Given the description of an element on the screen output the (x, y) to click on. 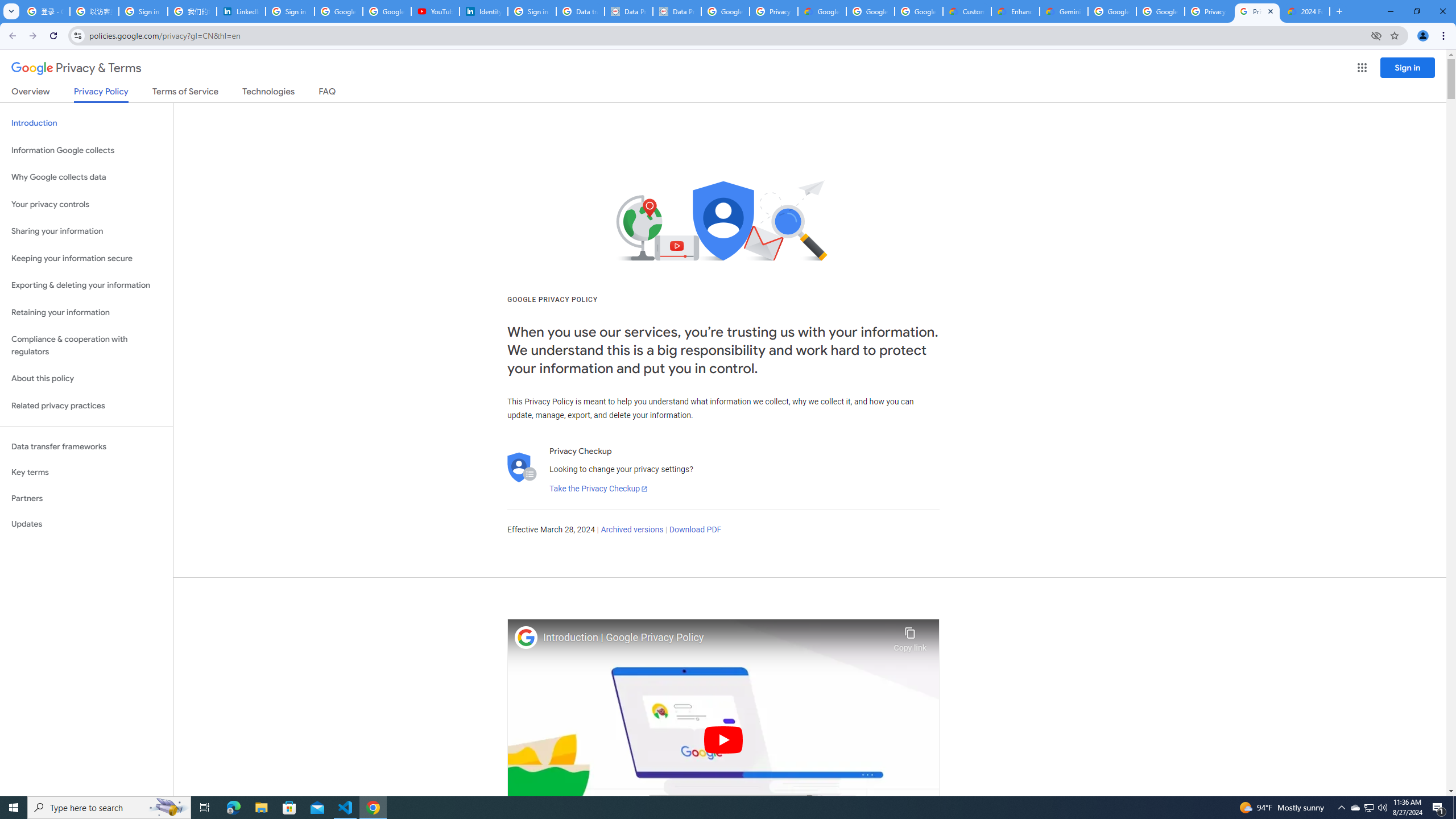
Why Google collects data (86, 176)
Key terms (86, 472)
Partners (86, 497)
Gemini for Business and Developers | Google Cloud (1064, 11)
Data Privacy Framework (628, 11)
Sign in - Google Accounts (290, 11)
Compliance & cooperation with regulators (86, 345)
Google Cloud Platform (1112, 11)
Enhanced Support | Google Cloud (1015, 11)
